Given the description of an element on the screen output the (x, y) to click on. 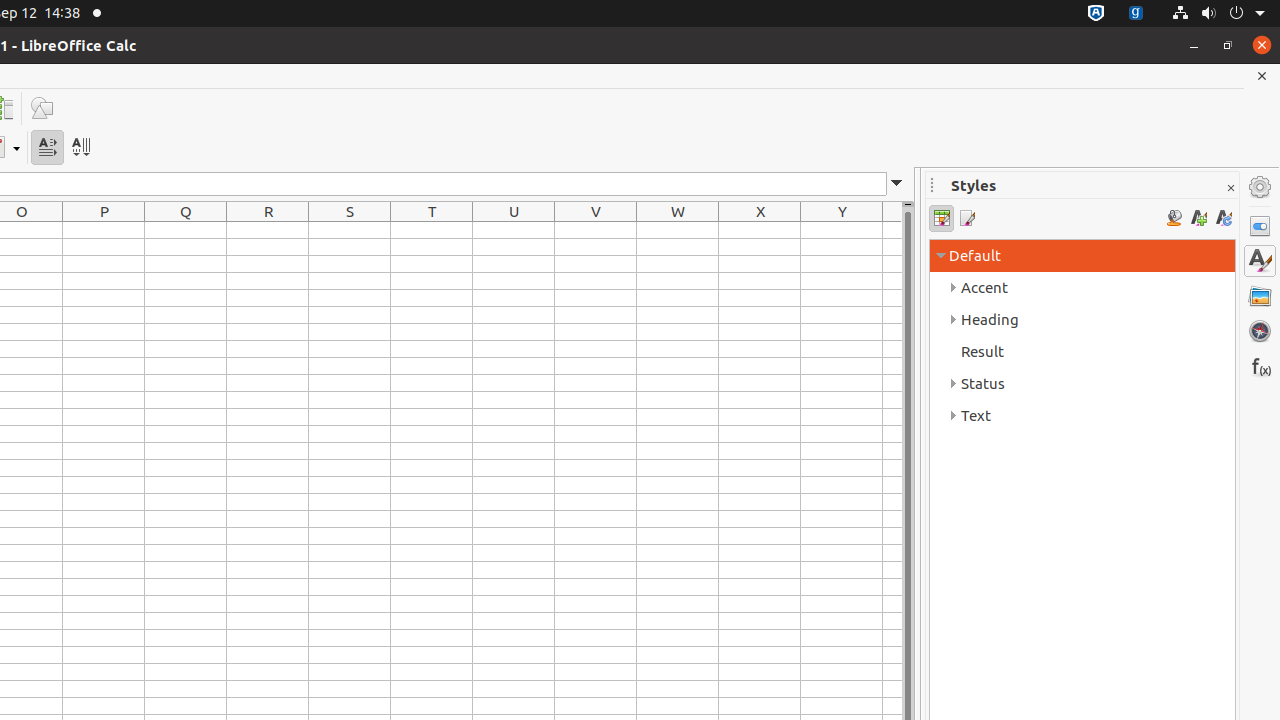
U1 Element type: table-cell (514, 230)
Page Styles Element type: push-button (966, 218)
Cell Styles Element type: push-button (941, 218)
Styles Element type: radio-button (1260, 261)
Functions Element type: radio-button (1260, 366)
